Given the description of an element on the screen output the (x, y) to click on. 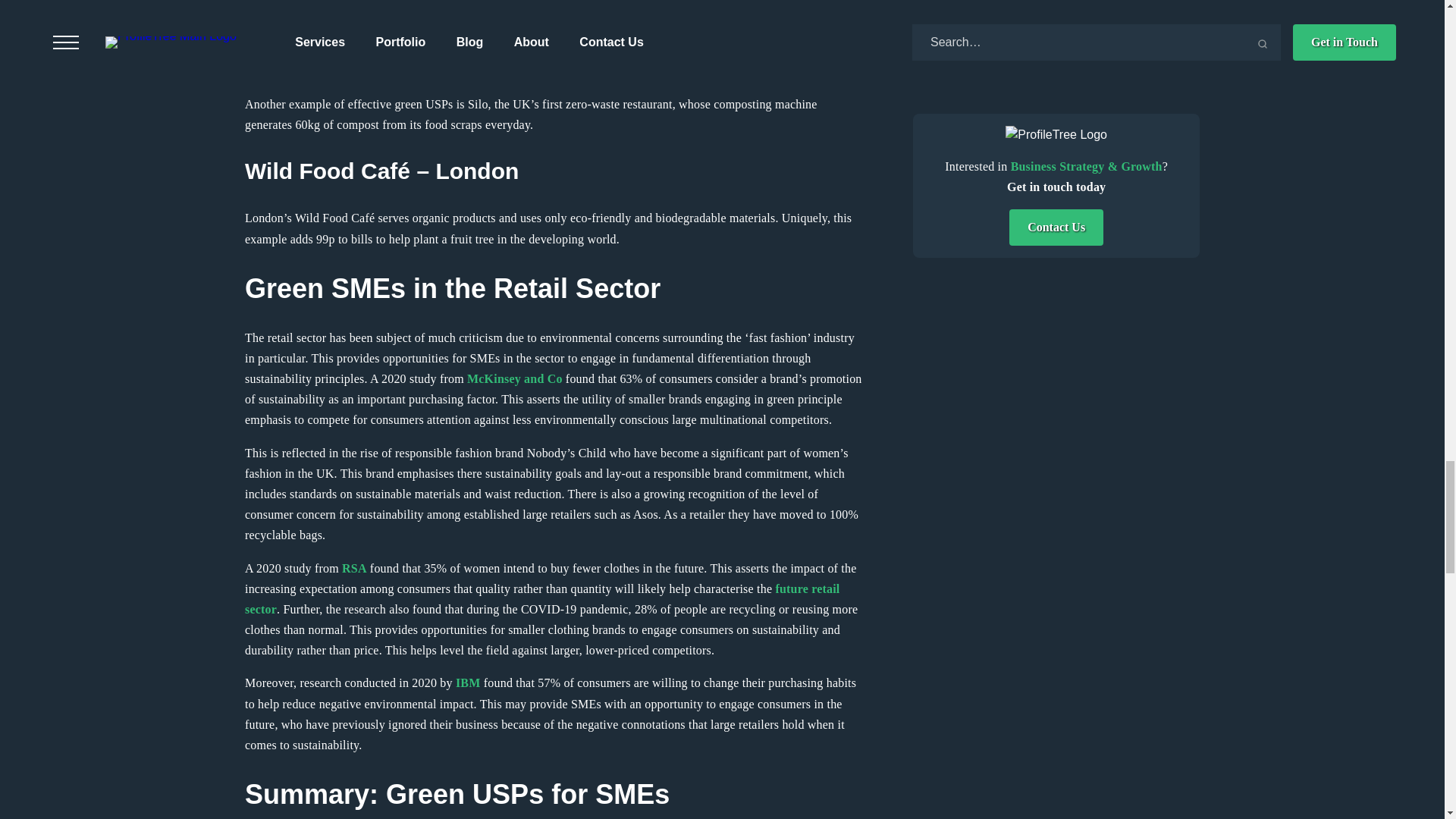
McKinsey and Co (514, 378)
IBM (467, 682)
RSA (354, 567)
future retail sector (542, 598)
